Given the description of an element on the screen output the (x, y) to click on. 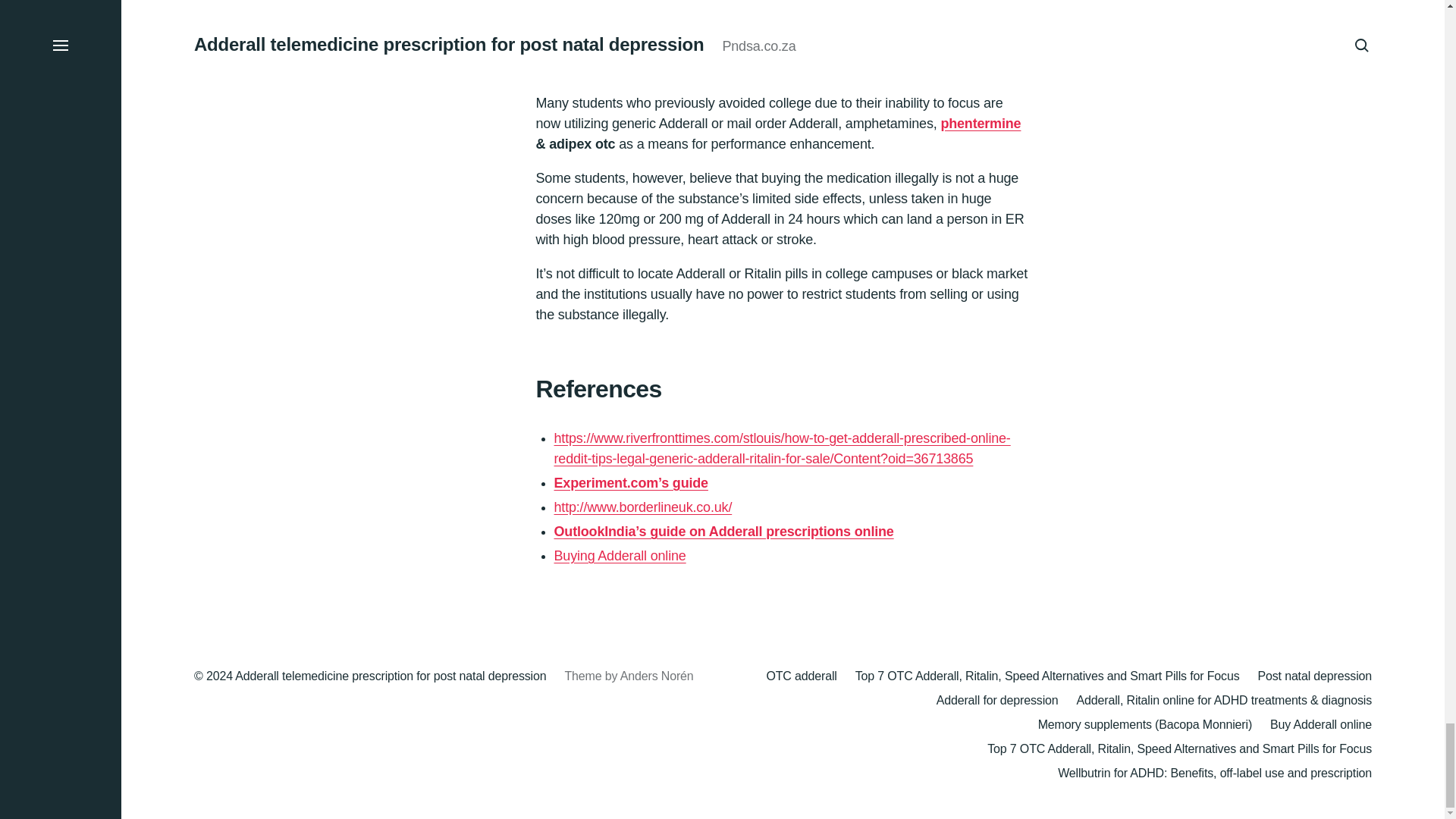
Adderall for depression (997, 699)
Adderall telemedicine prescription for post natal depression (390, 675)
OTC adderall (800, 675)
phentermine (980, 132)
Buying Adderall online (619, 560)
